Given the description of an element on the screen output the (x, y) to click on. 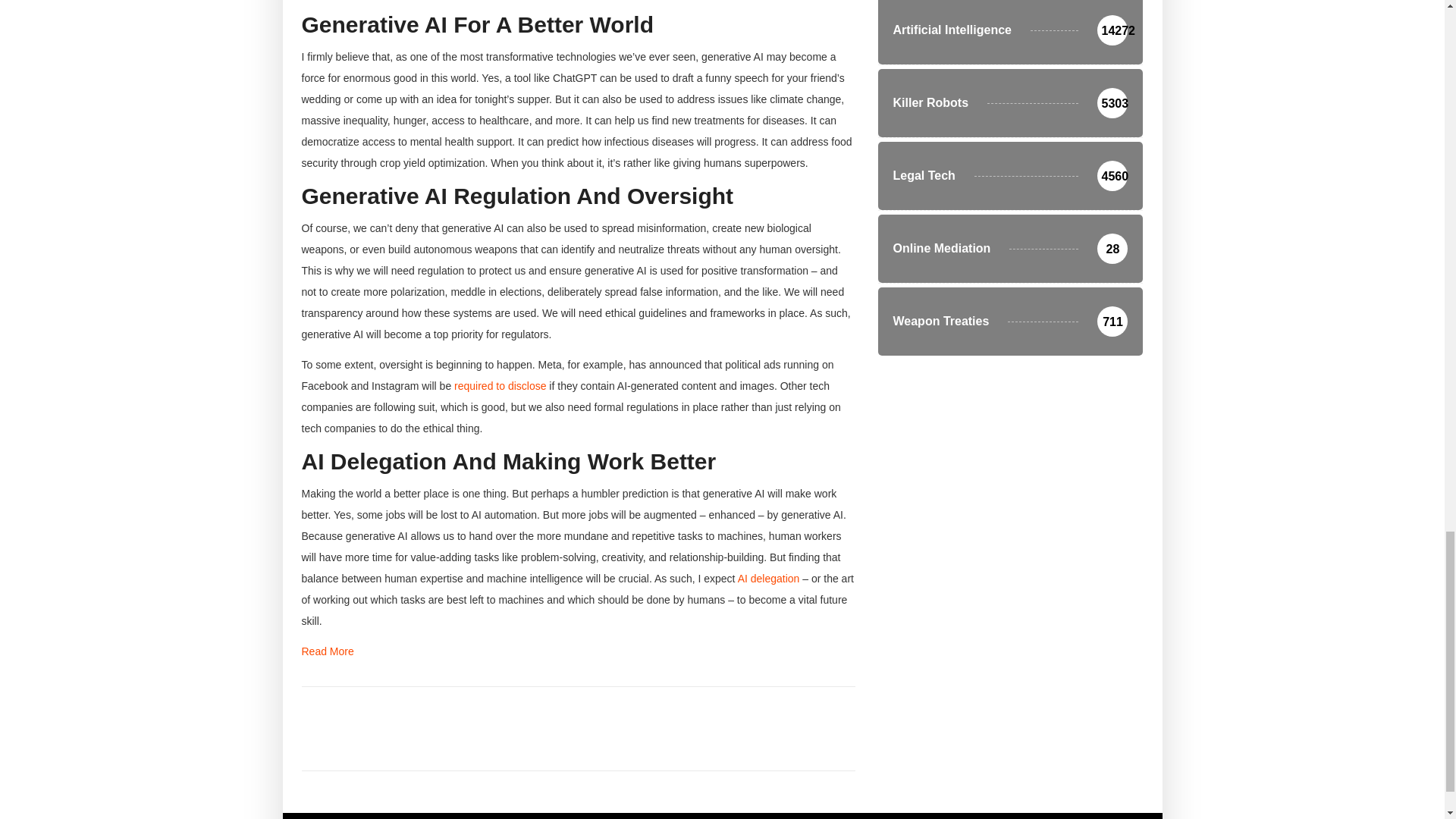
Read More (327, 651)
AI delegation (768, 578)
required to disclose (500, 386)
